Given the description of an element on the screen output the (x, y) to click on. 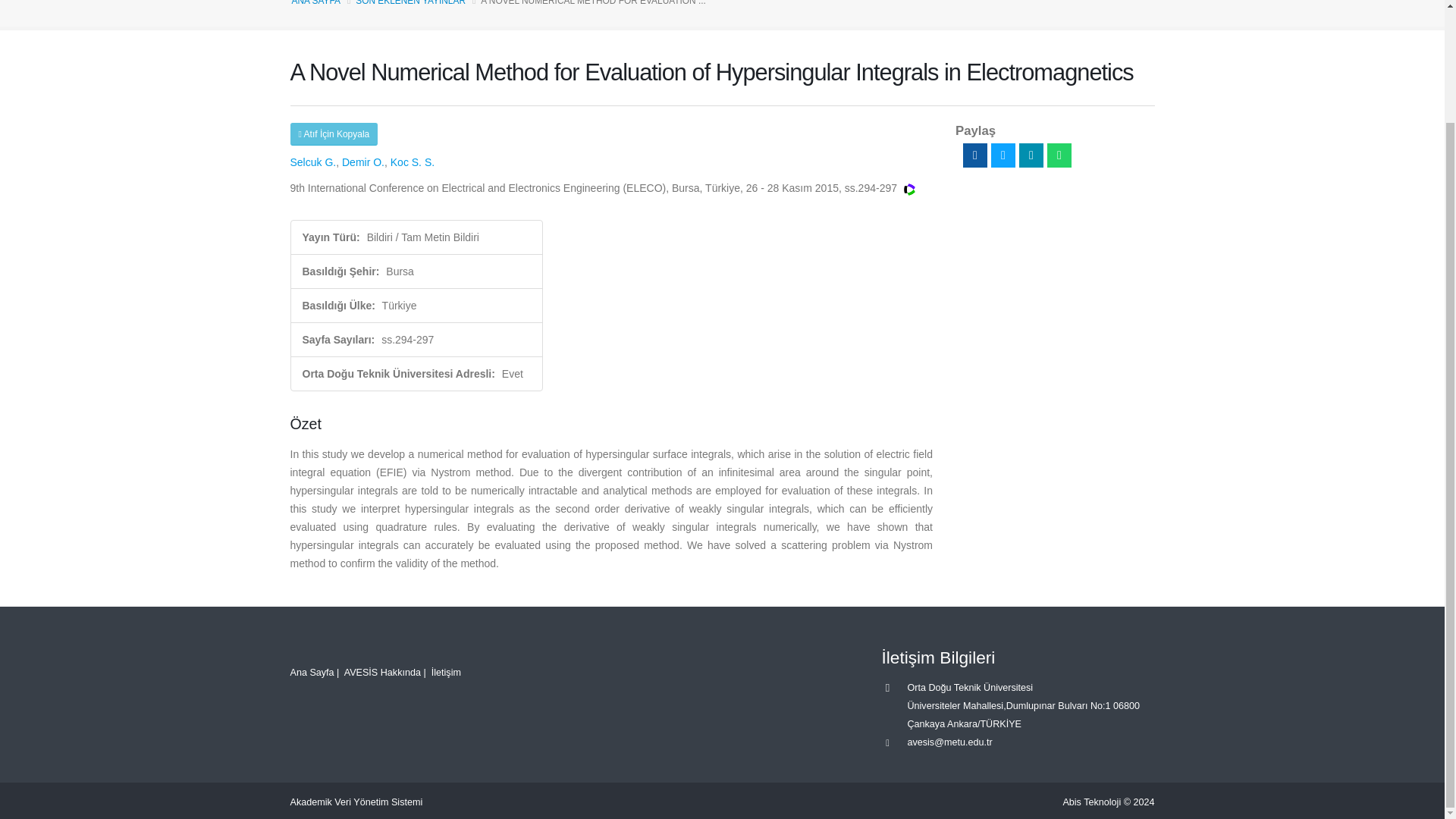
Ana Sayfa (311, 672)
Selcuk G. (312, 162)
Abis Teknoloji (1091, 801)
SON EKLENEN YAYINLAR (410, 2)
ANA SAYFA (315, 2)
Gokhun Selcuk (312, 162)
Koc S. S. (411, 162)
Oguz Demir (363, 162)
Demir O. (363, 162)
